Given the description of an element on the screen output the (x, y) to click on. 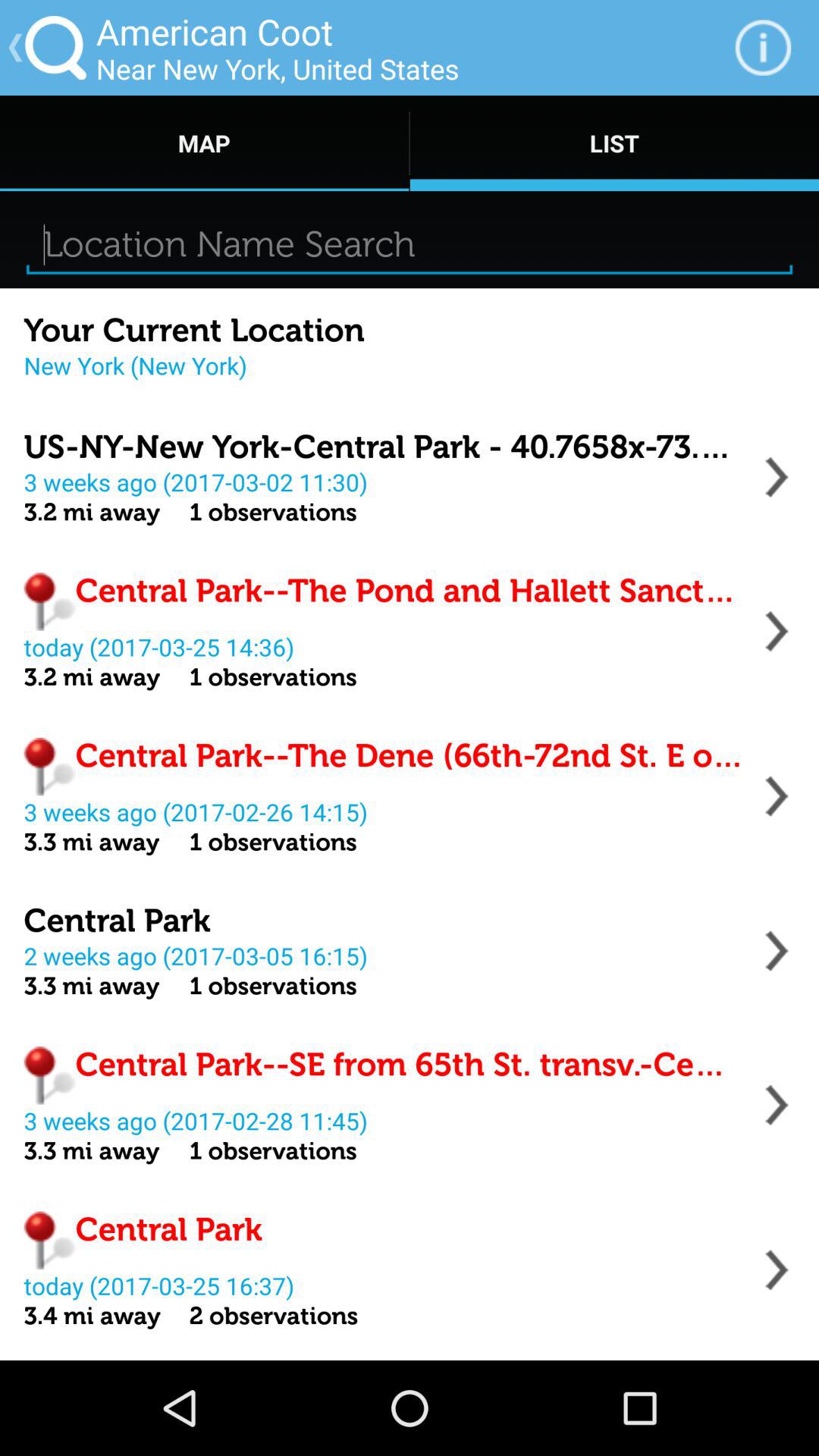
tap item below the new york new icon (384, 446)
